Given the description of an element on the screen output the (x, y) to click on. 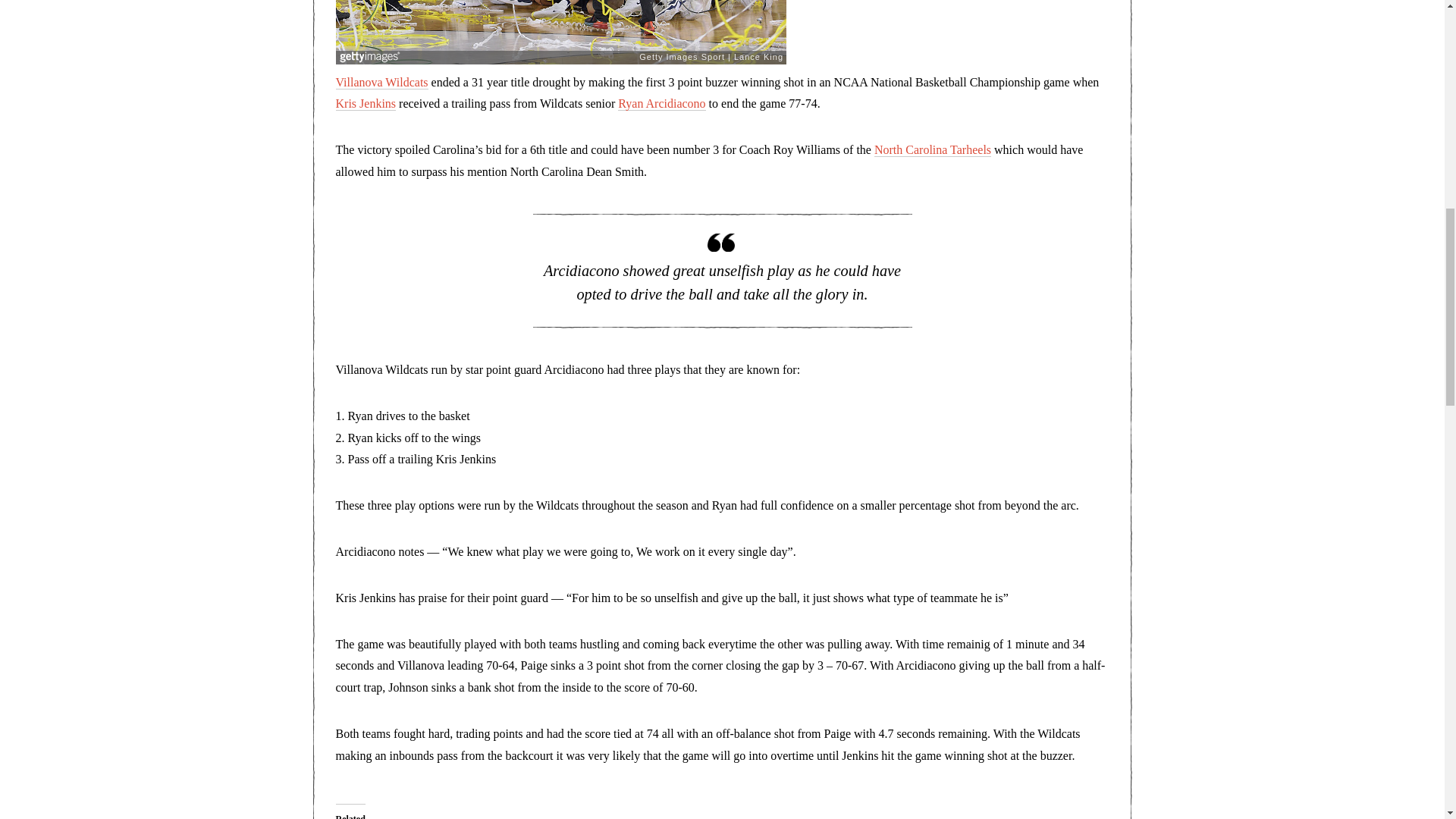
Ryan Arcidiacono (660, 103)
North Carolina Tarheels (933, 150)
Villanova Wildcats (381, 82)
Kris Jenkins (365, 103)
